Given the description of an element on the screen output the (x, y) to click on. 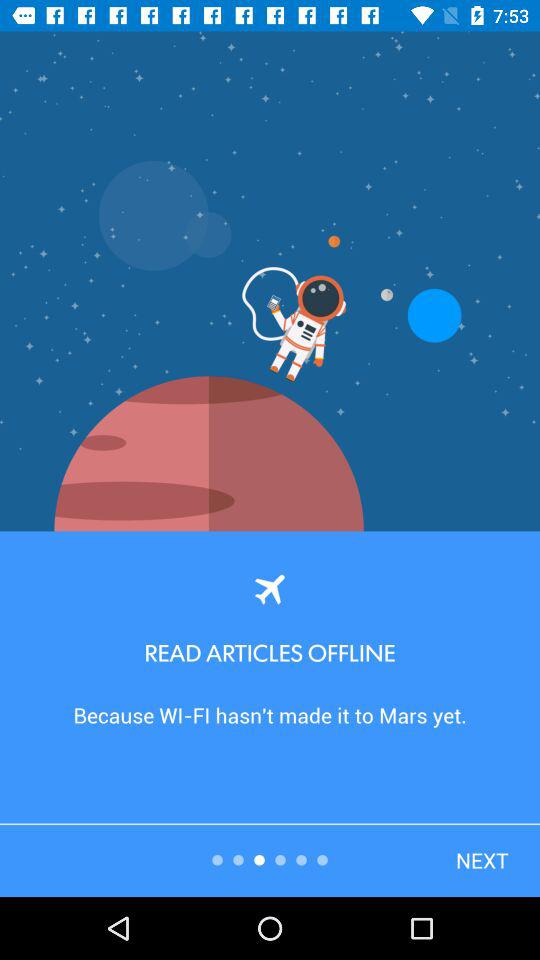
click on next (448, 822)
go to top of read articles offline (269, 588)
